Given the description of an element on the screen output the (x, y) to click on. 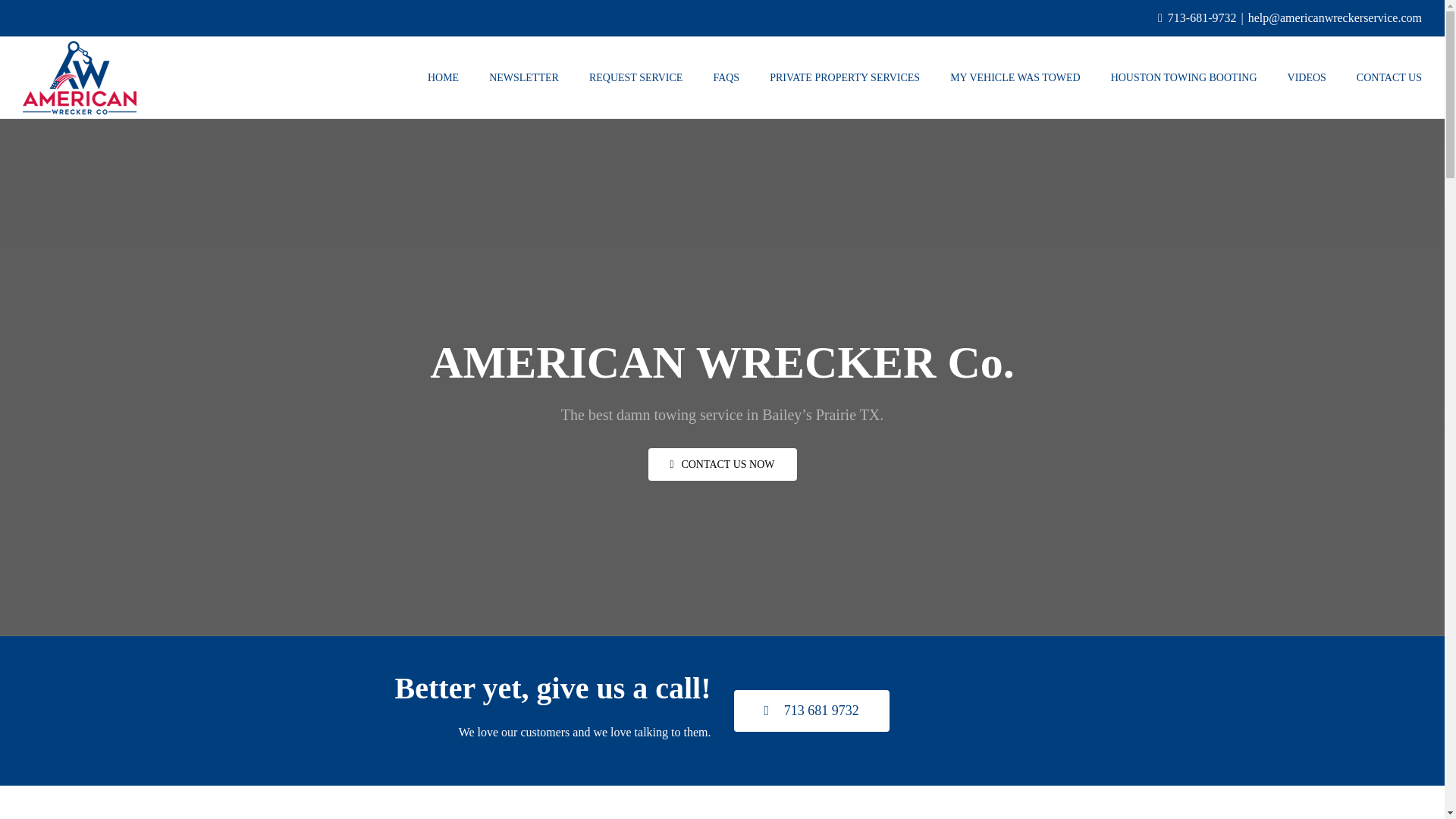
REQUEST SERVICE (635, 76)
CONTACT US NOW (721, 463)
713 681 9732 (811, 711)
713-681-9732 (1201, 17)
PRIVATE PROPERTY SERVICES (845, 76)
HOUSTON TOWING BOOTING (1183, 76)
MY VEHICLE WAS TOWED (1015, 76)
